Given the description of an element on the screen output the (x, y) to click on. 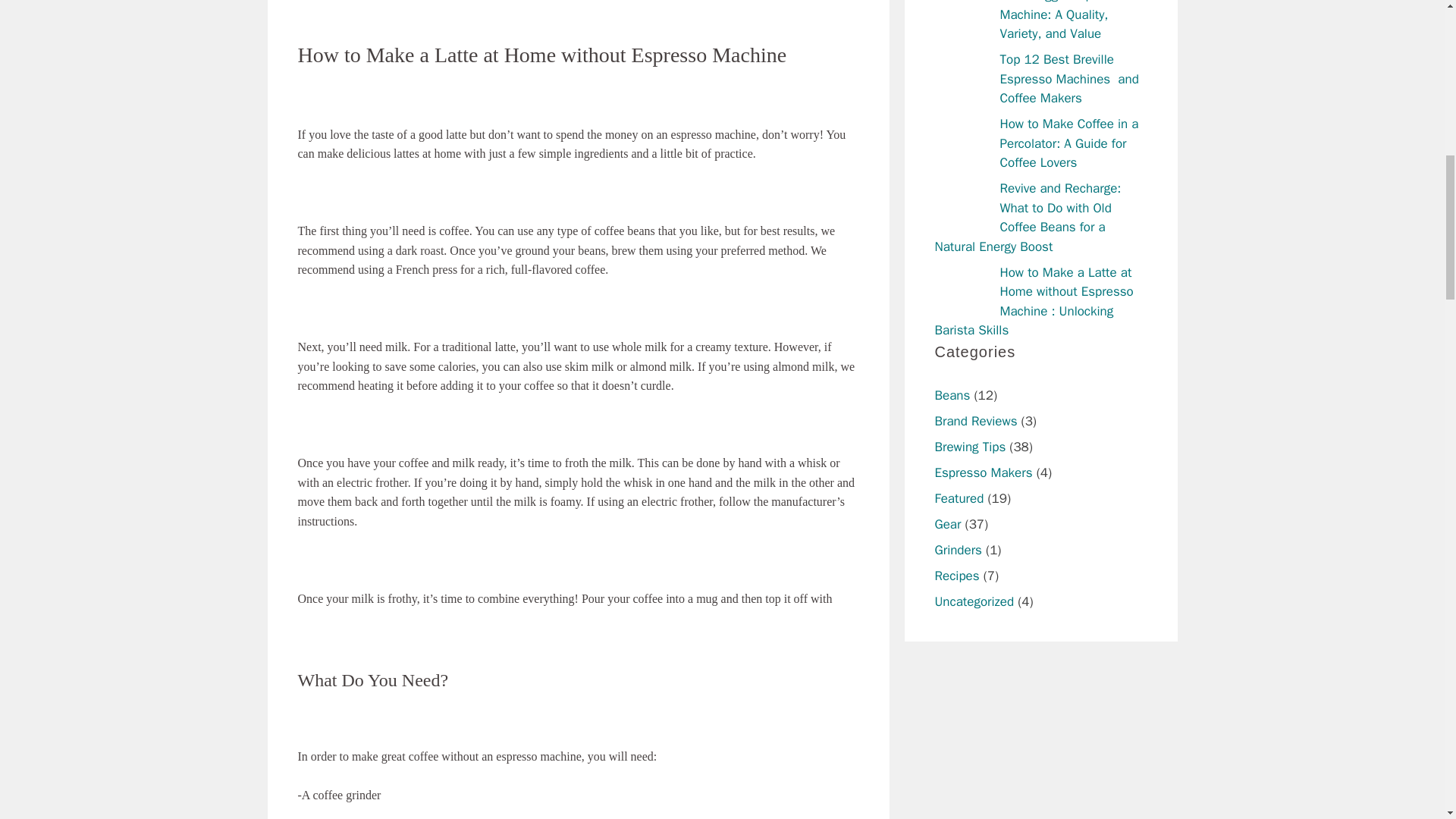
Uncategorized (973, 601)
Gear (947, 524)
Brand Reviews (975, 421)
Featured (959, 498)
Scroll back to top (1406, 720)
Espresso Makers (983, 472)
Best Gaggia Espresso Machine: A Quality, Variety, and Value (1061, 20)
Grinders (957, 549)
Beans (951, 395)
Top 12 Best Breville Espresso Machines  and Coffee Makers (1068, 78)
Brewing Tips (970, 446)
Recipes (956, 575)
